Given the description of an element on the screen output the (x, y) to click on. 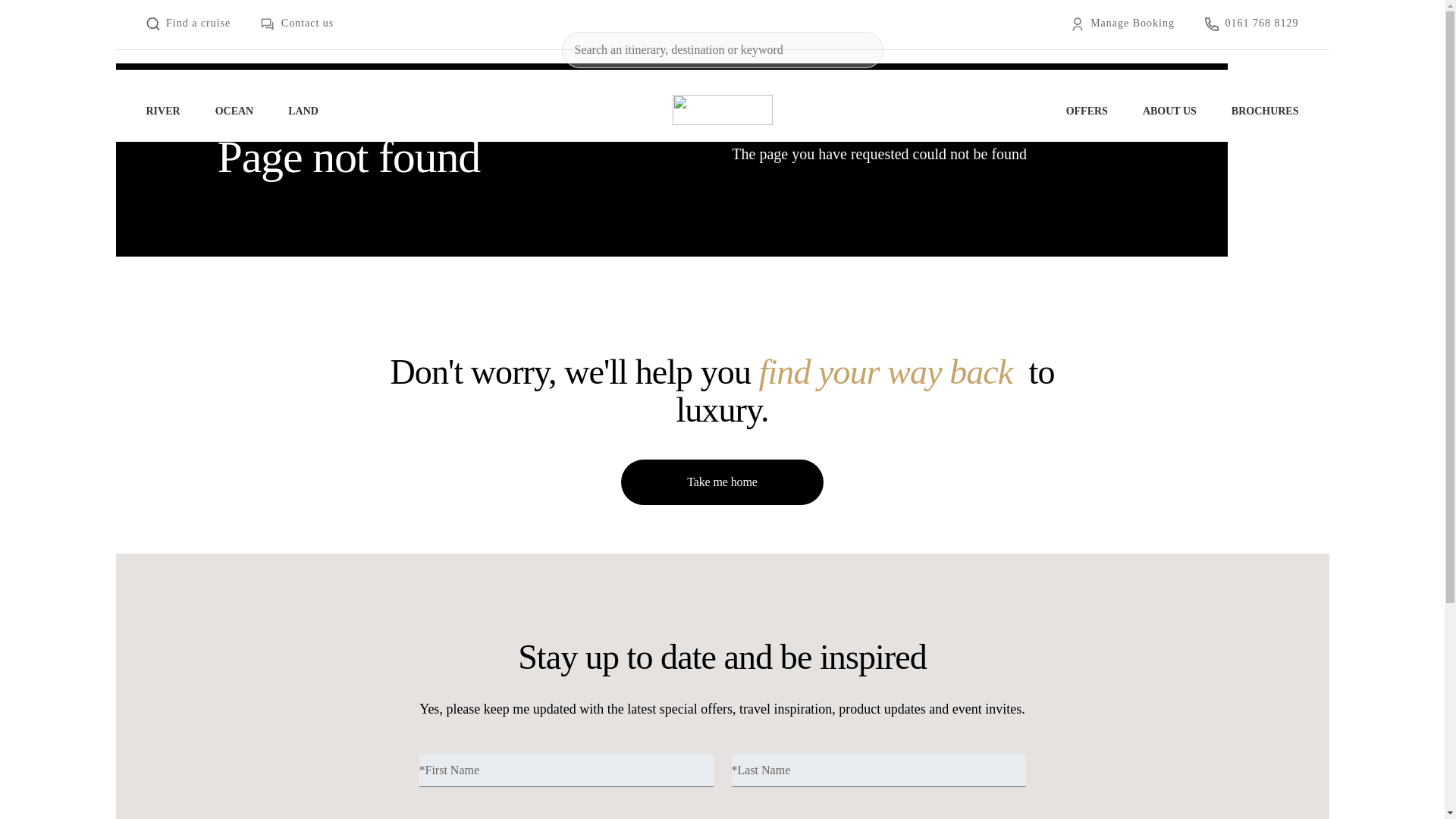
Manage Booking (1122, 24)
Contact us (296, 24)
River Cruises (166, 111)
Find a cruise (187, 24)
